Given the description of an element on the screen output the (x, y) to click on. 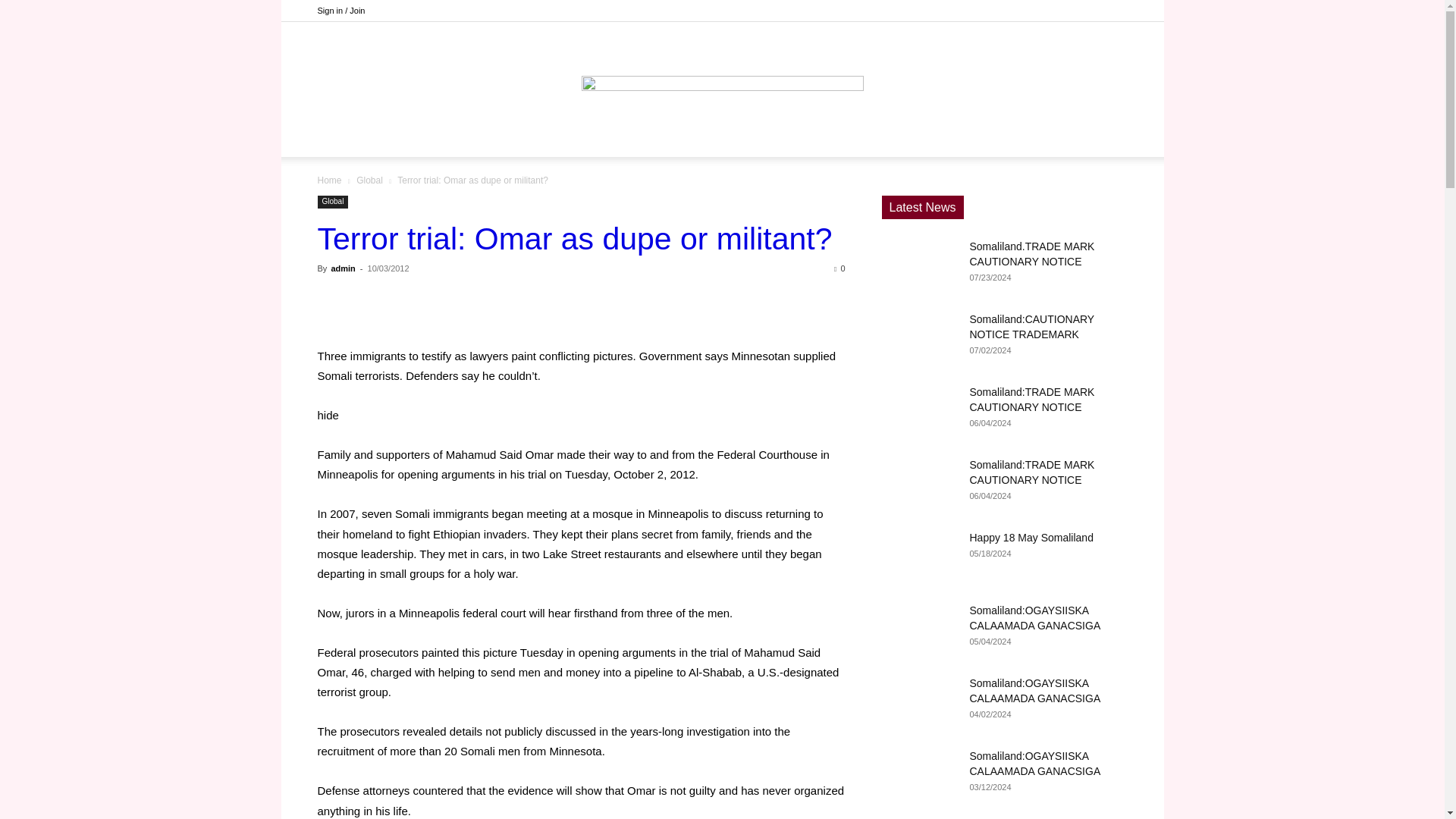
Somaliland Sun (722, 71)
HOME (481, 138)
DONOR NEWS (556, 138)
NEWS (631, 138)
